Given the description of an element on the screen output the (x, y) to click on. 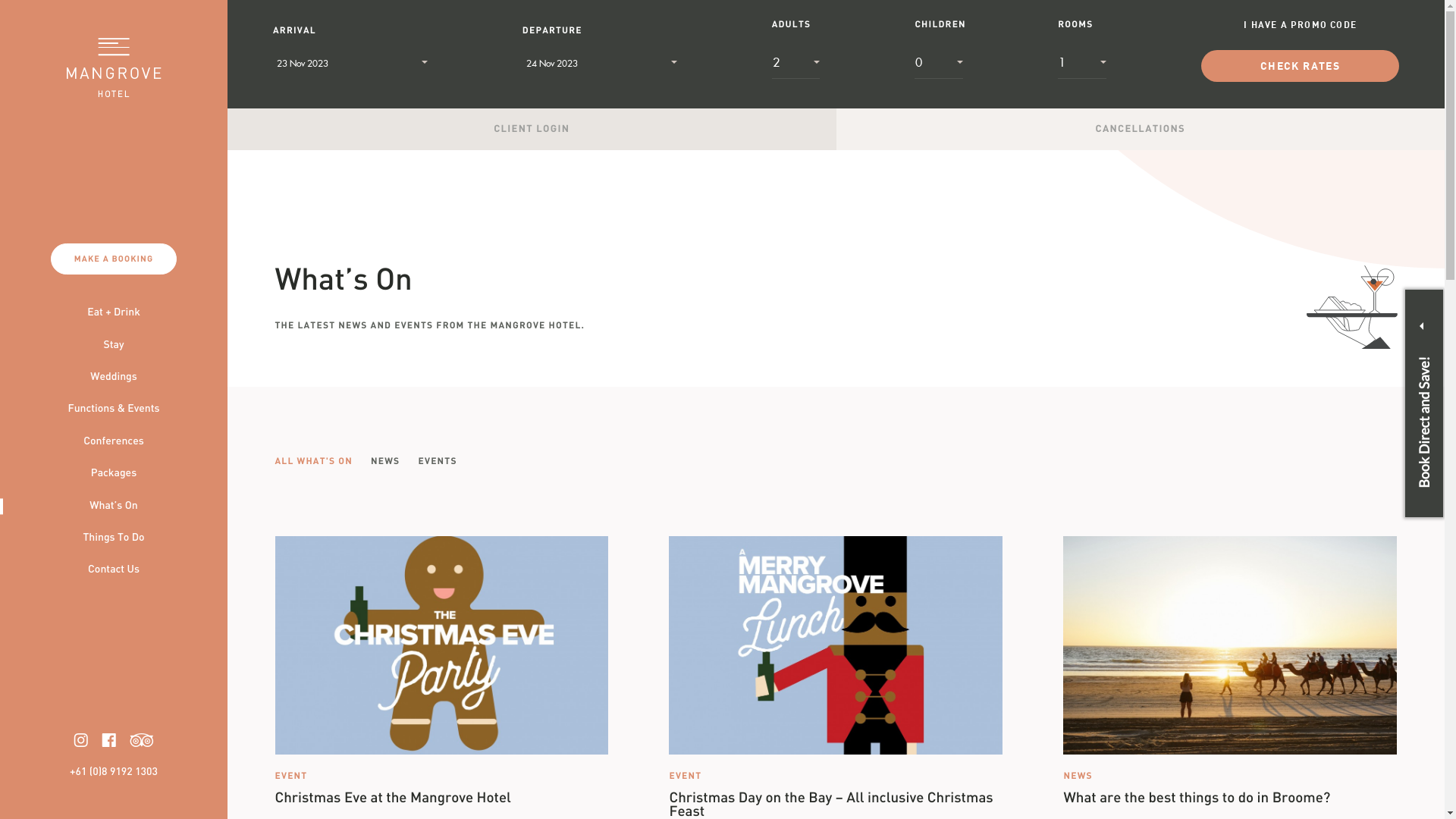
Tradewinds Hotel Element type: text (642, 666)
EVENT
Christmas Eve at the Mangrove Hotel Element type: text (441, 670)
prendiville.com.au Element type: text (803, 765)
Conferences Element type: text (113, 442)
CLIENT LOGIN Element type: text (531, 129)
+61 (0)8 9192 1303 Element type: text (113, 772)
Stay Element type: text (113, 345)
Contact Us Element type: text (113, 570)
The Continental Hotel Element type: text (682, 719)
Sandalford Estate Element type: text (824, 693)
ALL WHAT'S ON Element type: text (312, 461)
EVENTS Element type: text (437, 461)
Functions & Events Element type: text (113, 409)
Find us on Instagram Element type: text (80, 740)
MAKE A BOOKING Element type: text (113, 258)
CHECK RATES Element type: text (1300, 66)
Mangrove Hotel Element type: text (737, 666)
Find us on Facebook Element type: text (109, 740)
CANCELLATIONS Element type: text (1139, 129)
Pier 21 Element type: text (803, 666)
Find us on Tripadvisor Element type: text (141, 740)
Packages Element type: text (113, 473)
Karratha International Hotel Element type: text (700, 693)
Weddings Element type: text (113, 377)
Lontara Element type: text (1033, 666)
Hedland Hotel Element type: text (783, 719)
The Plaza Hotel Element type: text (867, 719)
Cottesloe Beach Hotel Element type: text (534, 666)
Brisbane Hotel Element type: text (992, 693)
Hotel Rottnest Element type: text (865, 666)
Grand Hotel Townsville Element type: text (563, 693)
NEWS
What are the best things to do in Broome? Element type: text (1229, 670)
Norfolk Hotel Element type: text (911, 693)
Click here to return home Element type: text (113, 67)
Samphire Rottnest Element type: text (957, 666)
NEWS Element type: text (384, 461)
Eat + Drink Element type: text (113, 313)
Things To Do Element type: text (113, 538)
